Given the description of an element on the screen output the (x, y) to click on. 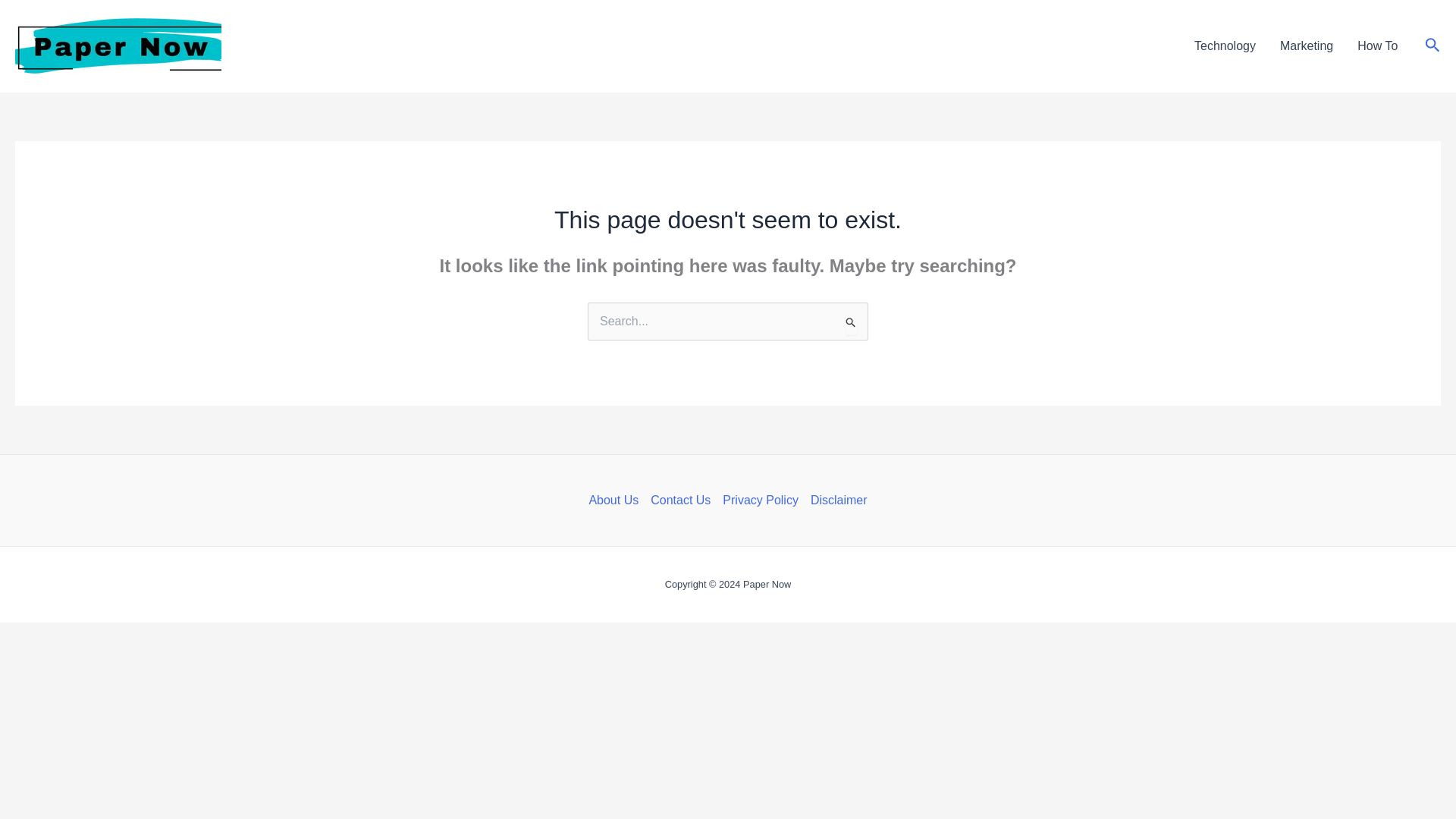
Contact Us (680, 499)
How To (1377, 45)
About Us (616, 499)
Marketing (1306, 45)
Disclaimer (836, 499)
Technology (1225, 45)
Search (850, 321)
Search (850, 321)
Privacy Policy (760, 499)
Search (850, 321)
